Given the description of an element on the screen output the (x, y) to click on. 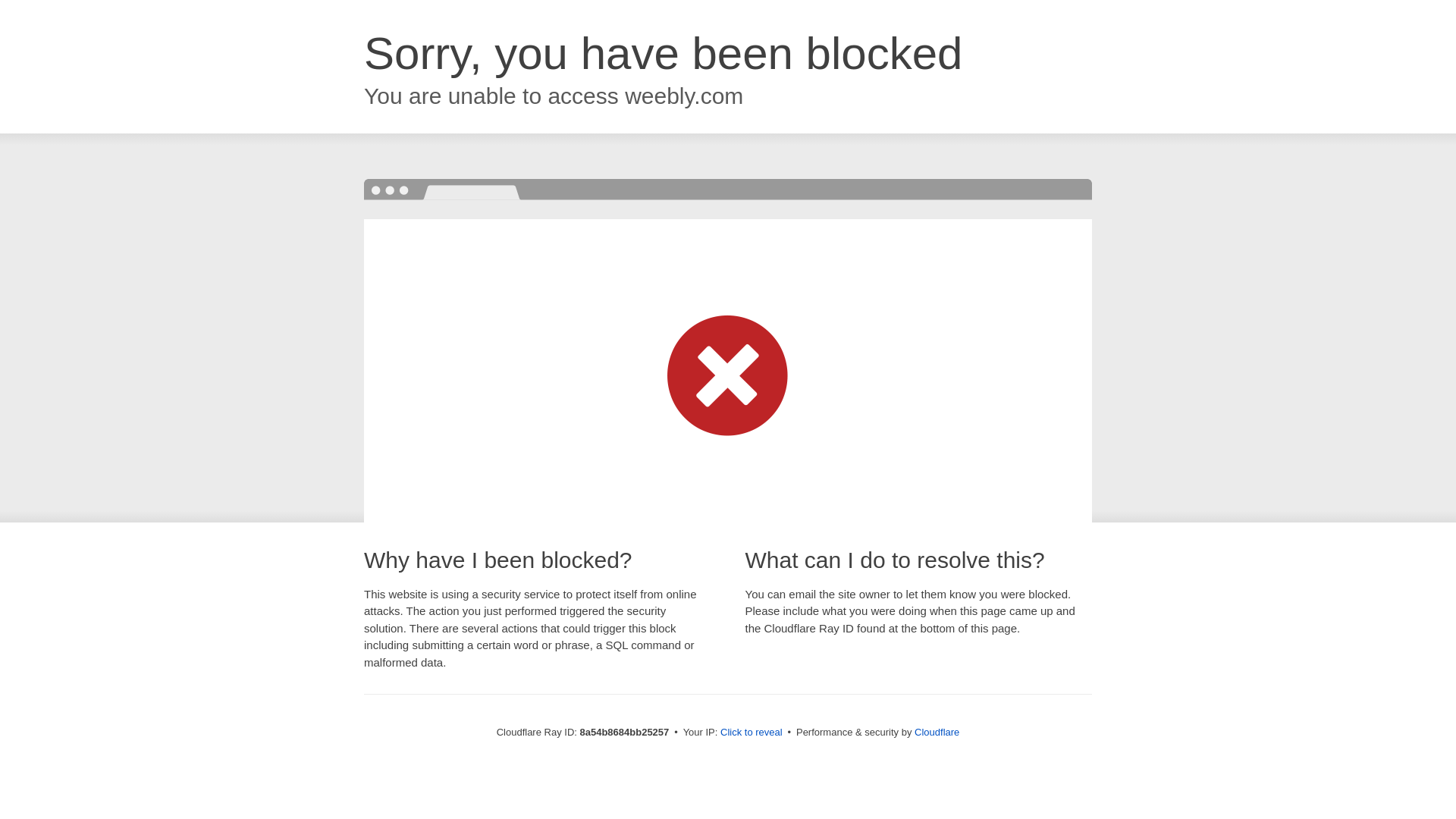
Cloudflare (936, 731)
Click to reveal (751, 732)
